Given the description of an element on the screen output the (x, y) to click on. 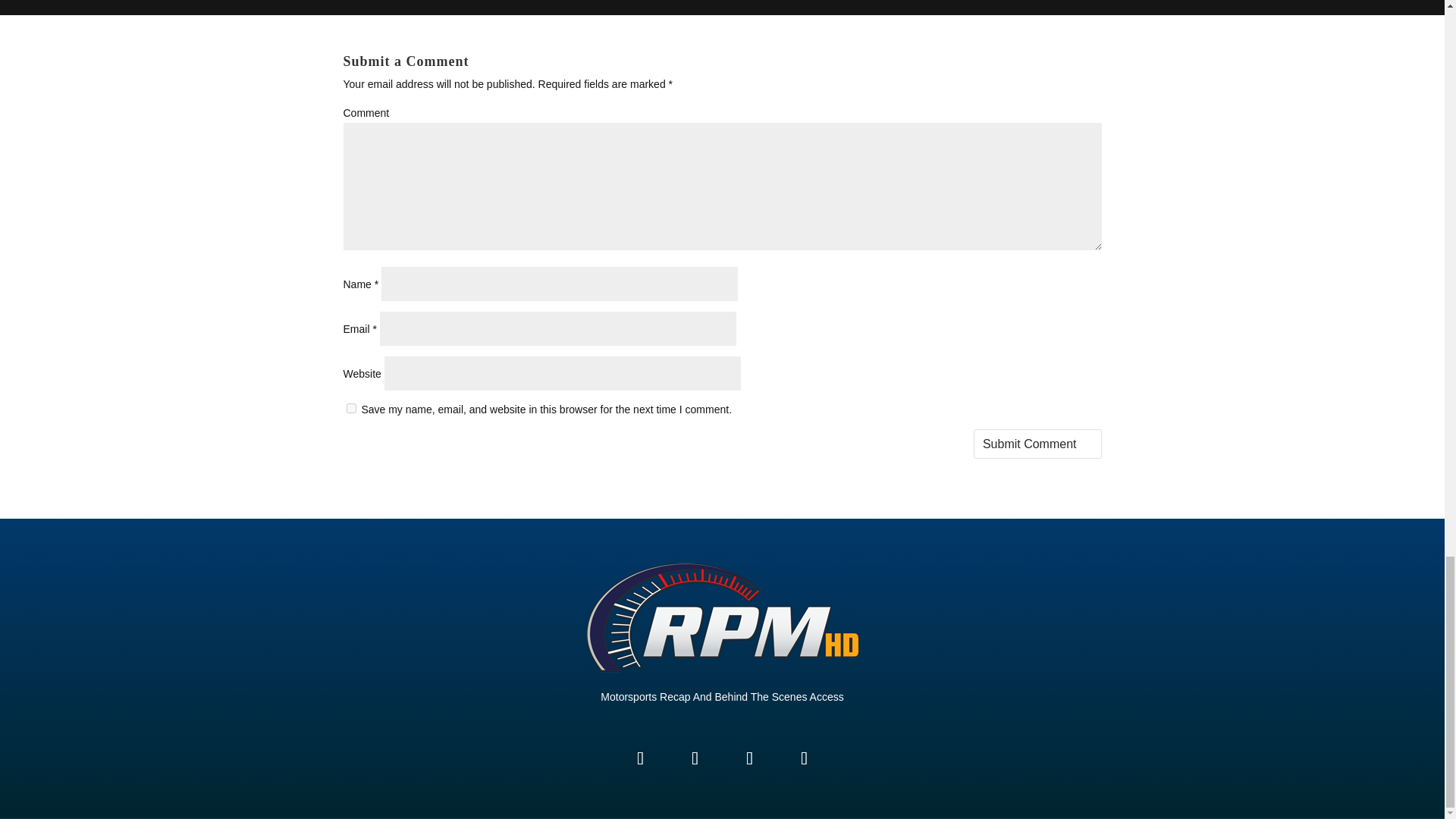
yes (350, 408)
Follow on Facebook (632, 750)
Submit Comment (1038, 443)
